Given the description of an element on the screen output the (x, y) to click on. 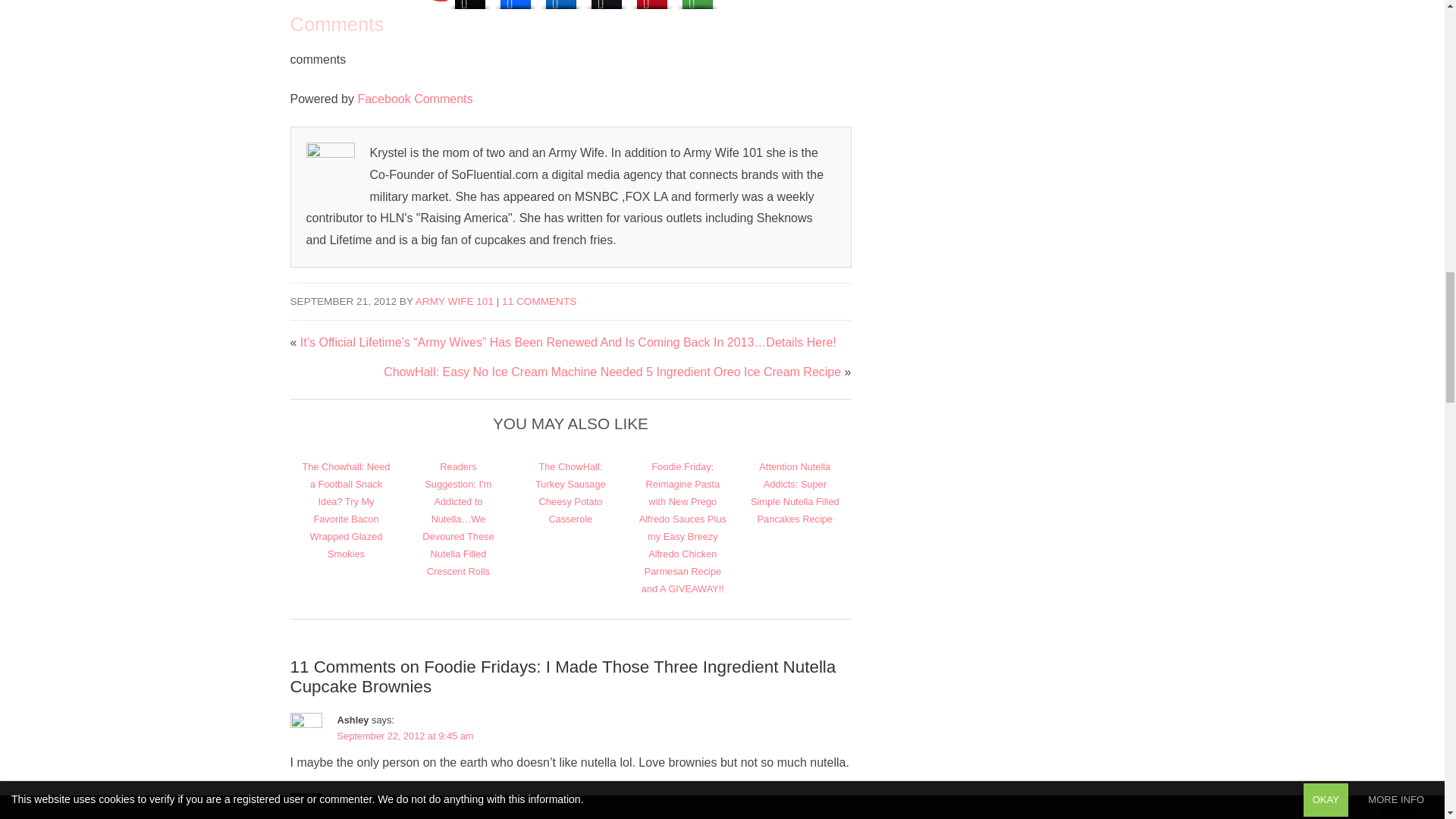
Pinterest (651, 6)
Facebook (515, 6)
LinkedIn (560, 6)
More Options (697, 6)
Digg (469, 6)
